Given the description of an element on the screen output the (x, y) to click on. 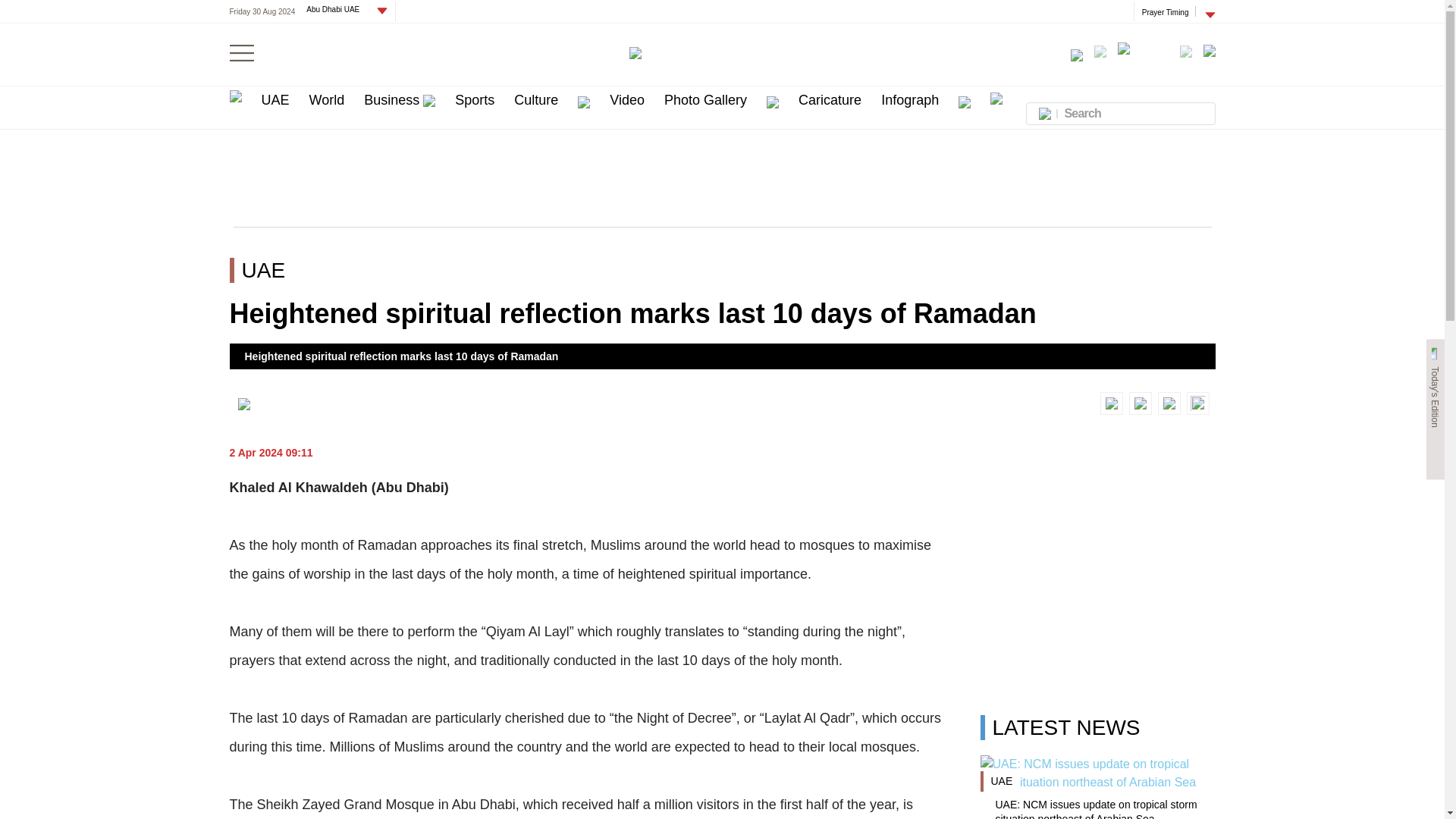
Video (627, 100)
World (326, 100)
Infograph (909, 100)
Business (399, 100)
Photo Gallery (704, 100)
UAE (274, 100)
Culture (535, 100)
Caricature (829, 100)
Prayer Timing (1165, 11)
Sports (474, 100)
